Given the description of an element on the screen output the (x, y) to click on. 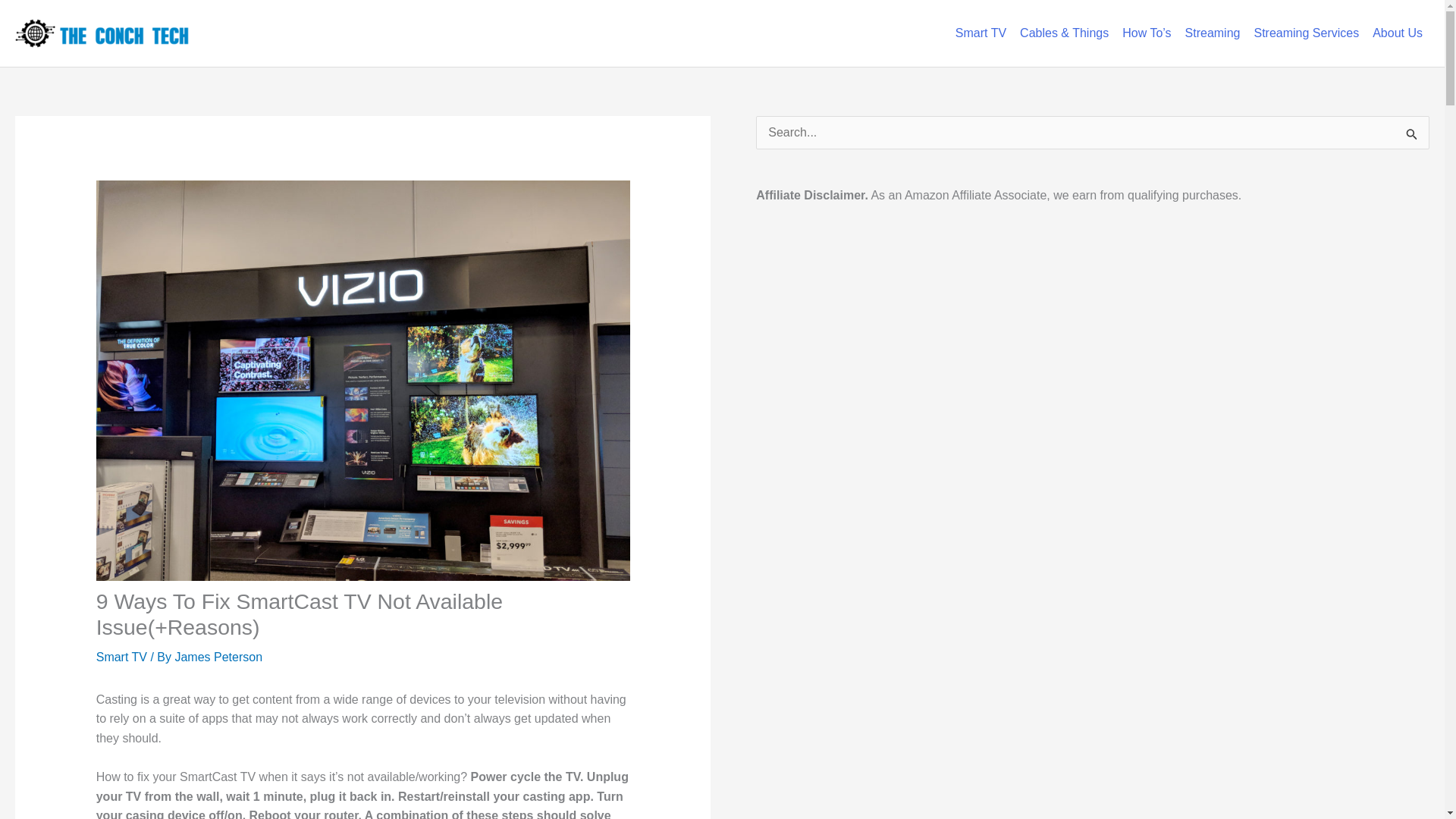
Smart TV (121, 656)
Smart TV (981, 33)
James Peterson (218, 656)
View all posts by James Peterson (218, 656)
Streaming (1212, 33)
Streaming Services (1305, 33)
About Us (1397, 33)
